Given the description of an element on the screen output the (x, y) to click on. 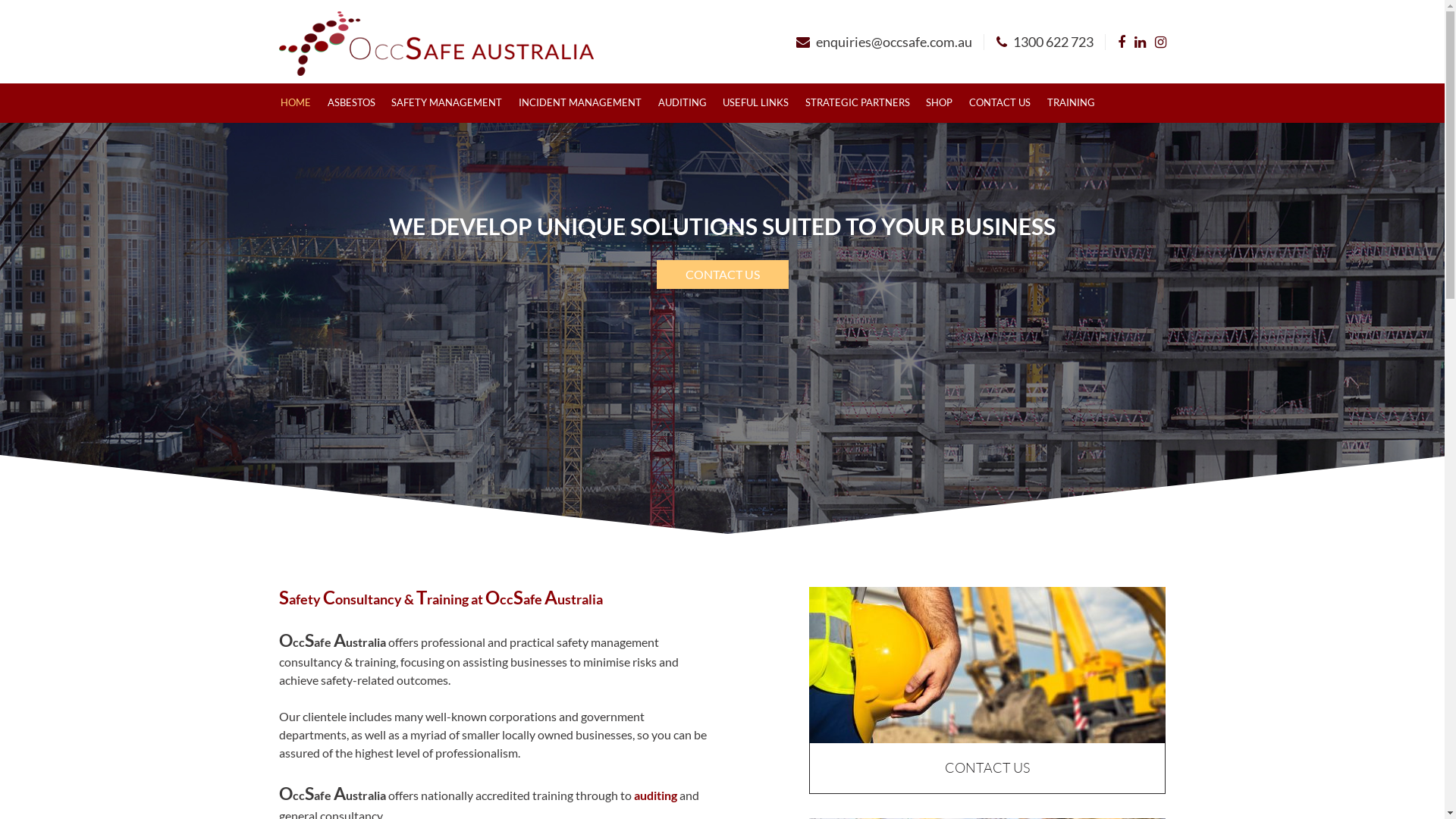
TRAINING Element type: text (1070, 102)
USEFUL LINKS Element type: text (755, 102)
CONTACT US Element type: text (987, 724)
enquiries@occsafe.com.au Element type: text (884, 41)
AUDITING Element type: text (682, 102)
SAFETY MANAGEMENT Element type: text (447, 102)
STRATEGIC PARTNERS Element type: text (857, 102)
1300 622 723 Element type: text (1044, 41)
CONTACT US Element type: text (999, 102)
ASBESTOS Element type: text (351, 102)
HOME Element type: text (296, 102)
CONTACT US Element type: text (722, 274)
SHOP Element type: text (939, 102)
auditing Element type: text (655, 794)
INCIDENT MANAGEMENT Element type: text (579, 102)
